Given the description of an element on the screen output the (x, y) to click on. 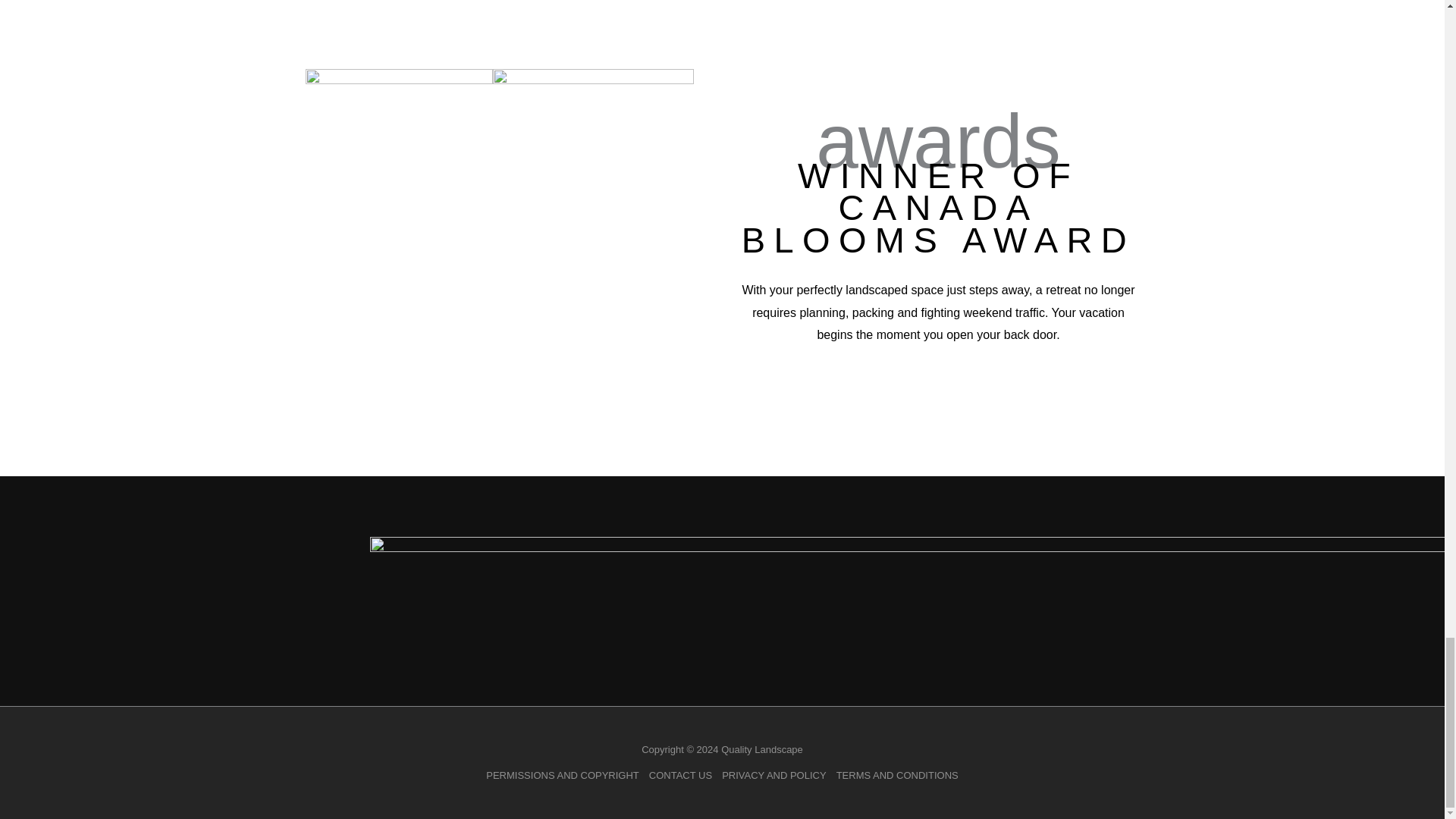
CONTACT US (679, 775)
TERMS AND CONDITIONS (894, 775)
PERMISSIONS AND COPYRIGHT (564, 775)
PRIVACY AND POLICY (774, 775)
